Given the description of an element on the screen output the (x, y) to click on. 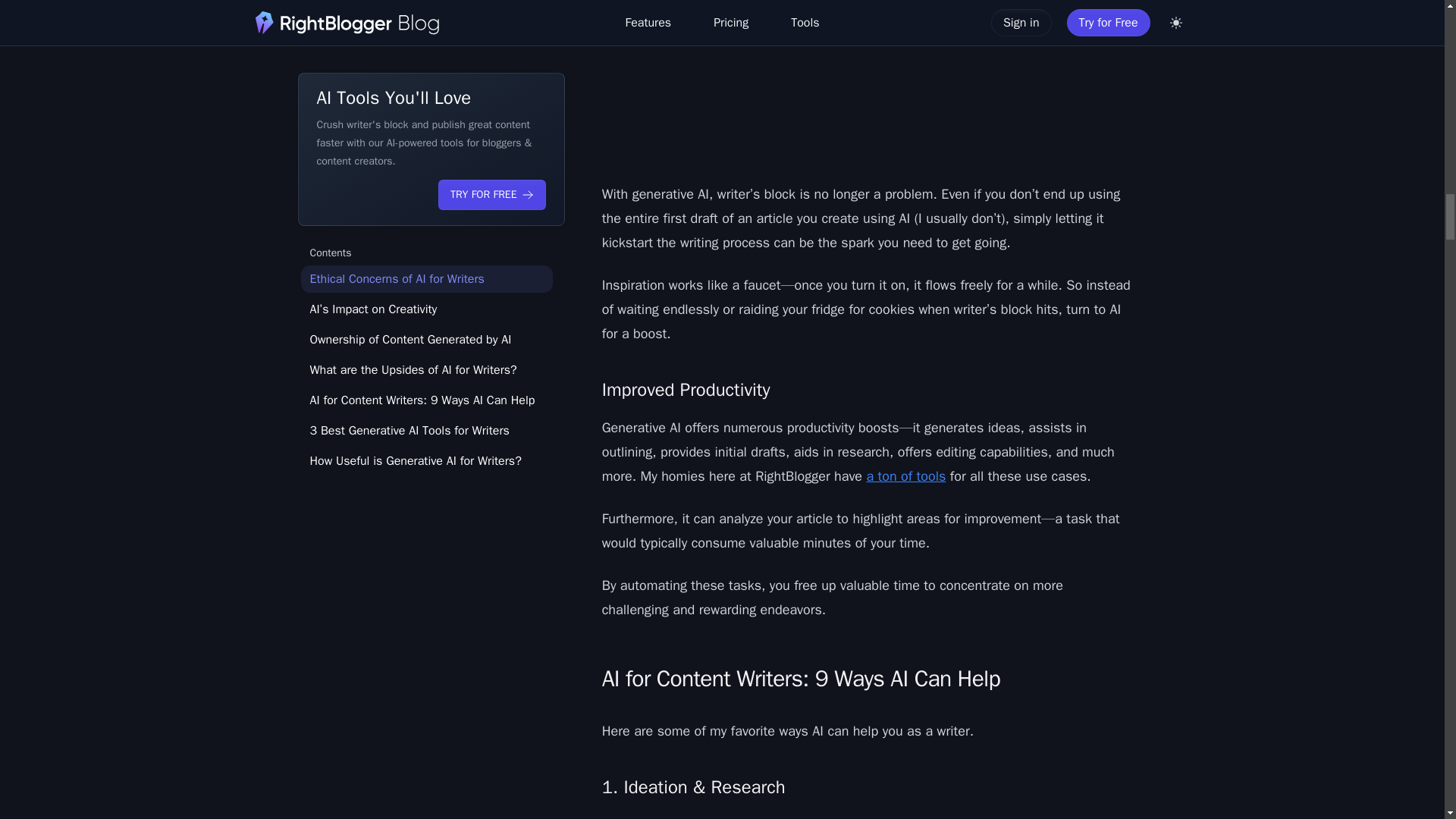
a ton of tools (905, 475)
